Given the description of an element on the screen output the (x, y) to click on. 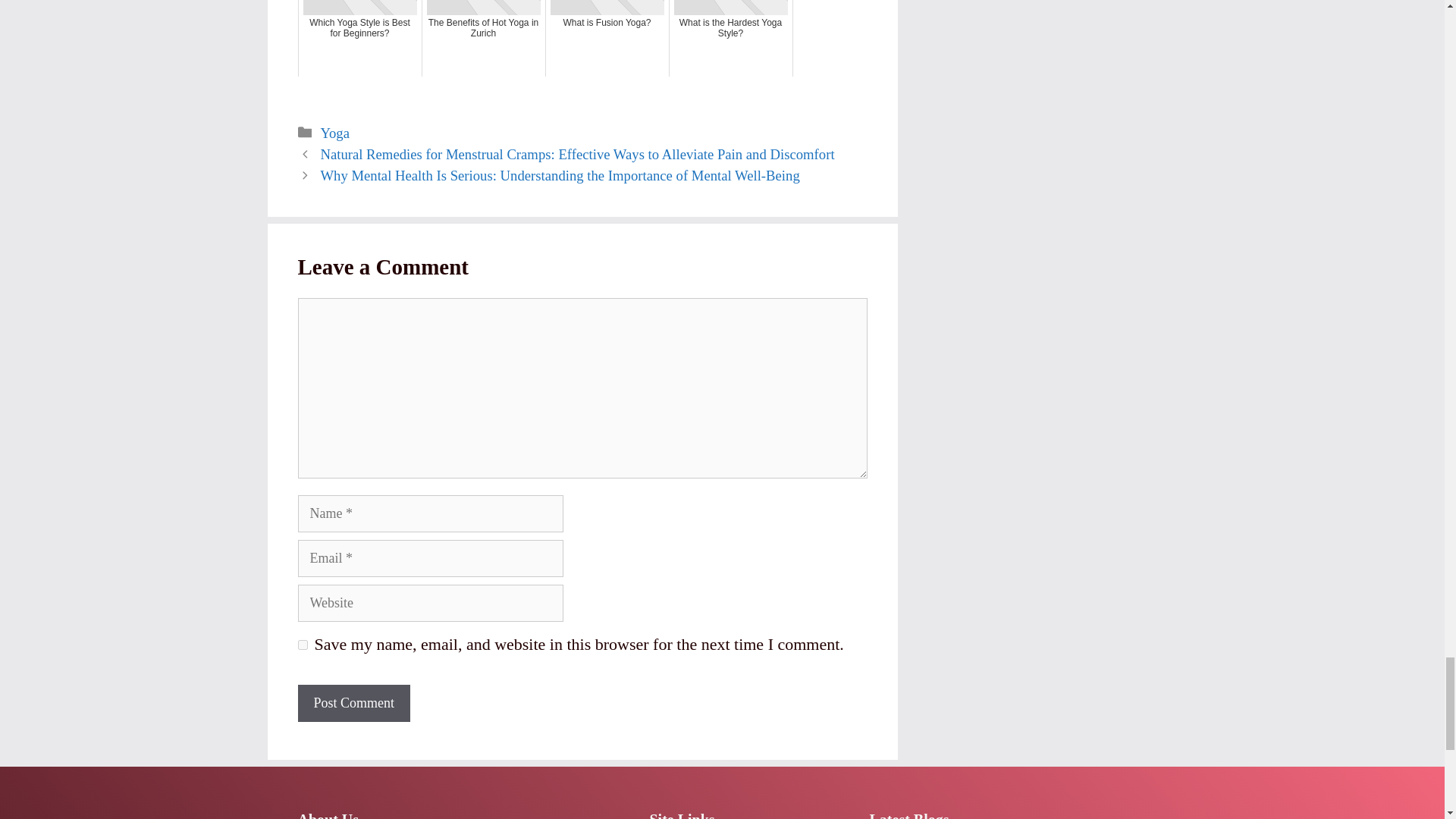
Post Comment (353, 702)
Which Yoga Style is Best for Beginners? (359, 38)
The Benefits of Hot Yoga in Zurich (484, 38)
What is Fusion Yoga? (606, 38)
yes (302, 644)
What is the Hardest Yoga Style? (730, 38)
Yoga (334, 132)
